Given the description of an element on the screen output the (x, y) to click on. 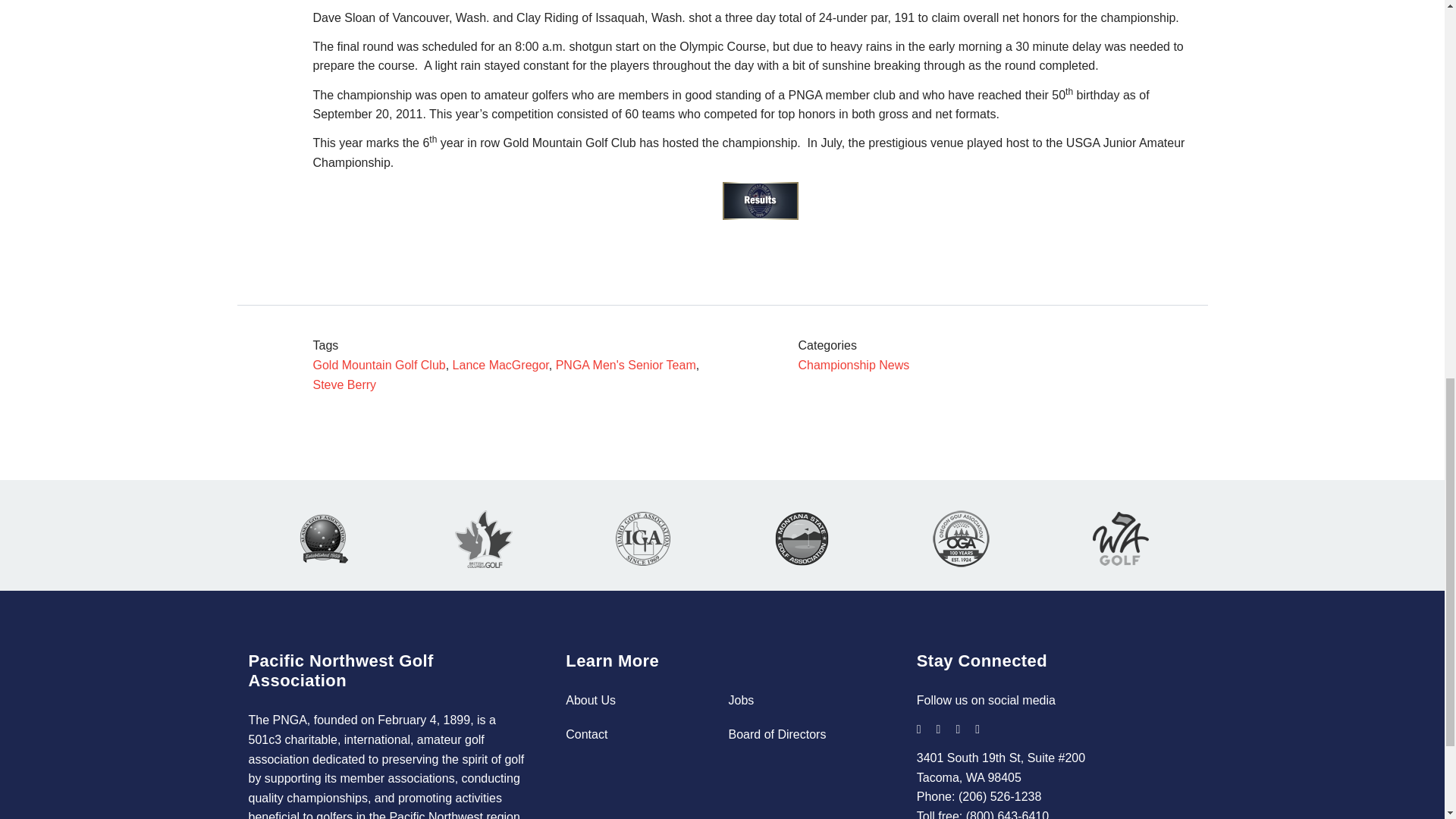
Results (759, 200)
